Given the description of an element on the screen output the (x, y) to click on. 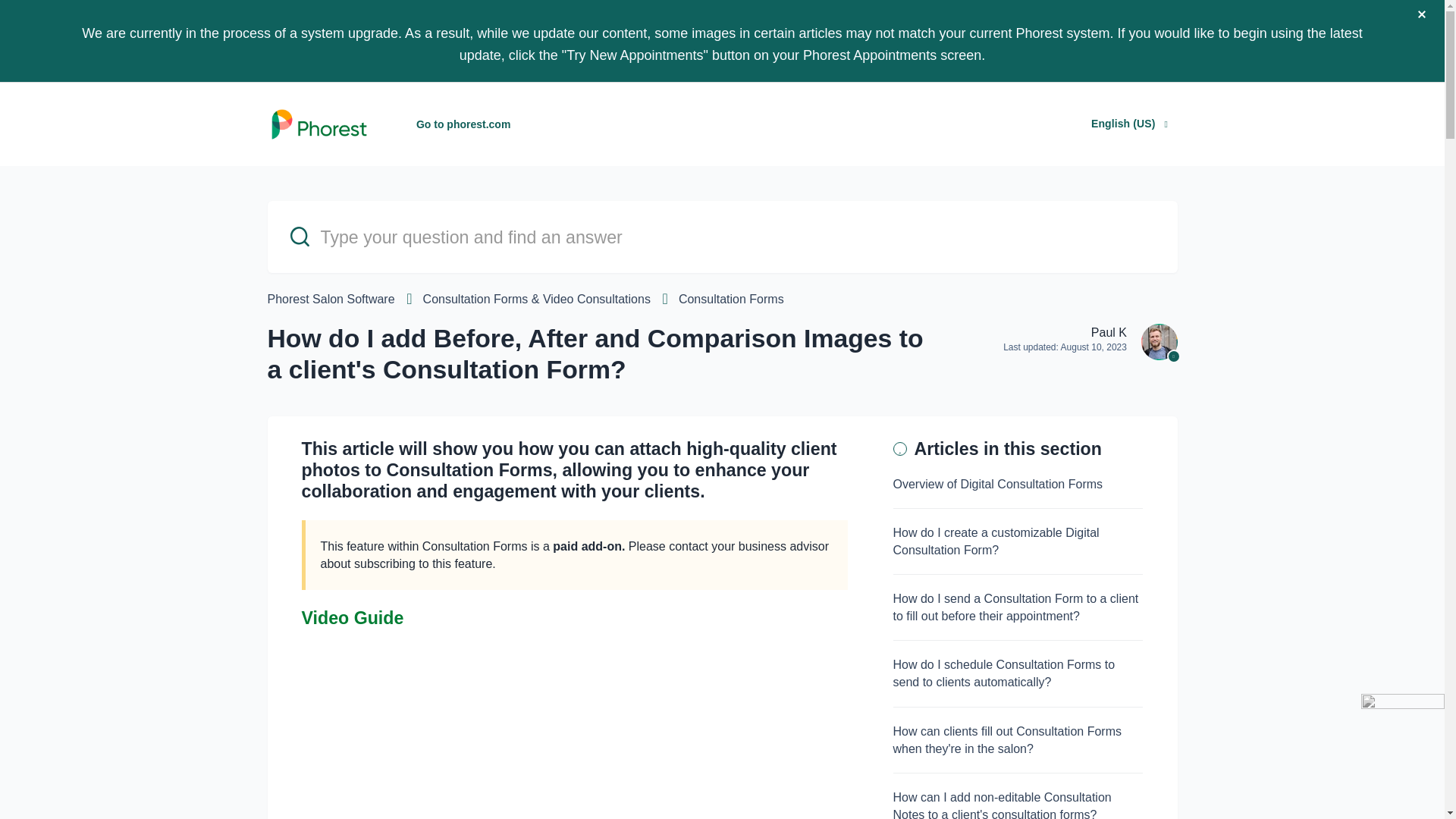
How do I create a customizable Digital Consultation Form? (996, 541)
Overview of Digital Consultation Forms (998, 483)
Search (28, 13)
2023-08-10 19:50 (1093, 347)
Phorest Salon Software (330, 298)
Home (317, 124)
Consultation Forms (731, 298)
Go to phorest.com (463, 124)
